Given the description of an element on the screen output the (x, y) to click on. 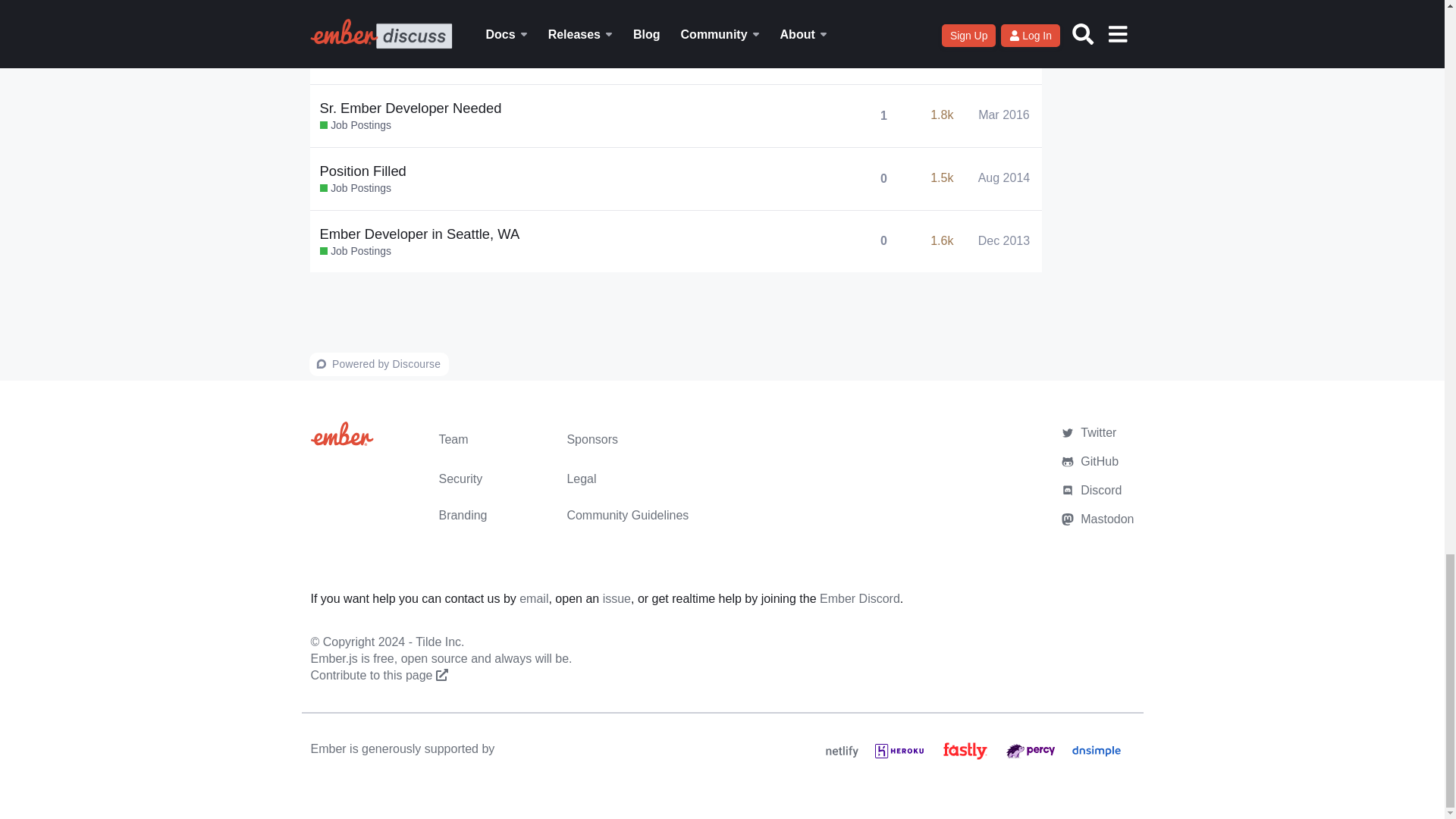
Position Filled (363, 170)
Feb 2018 (1003, 3)
Mar 2016 (1003, 114)
this topic has been viewed 1317 times (941, 51)
Job Postings (355, 3)
Sr. Ember Developer Needed (411, 107)
1 (883, 115)
Job Postings (355, 62)
Job Postings (355, 188)
Job Postings (355, 125)
This category is for job listings. (355, 3)
This category is for job listings. (355, 62)
Software Development Fall Internship (435, 44)
Created: Feb 8, 2018 11:10 pm (1006, 10)
